Given the description of an element on the screen output the (x, y) to click on. 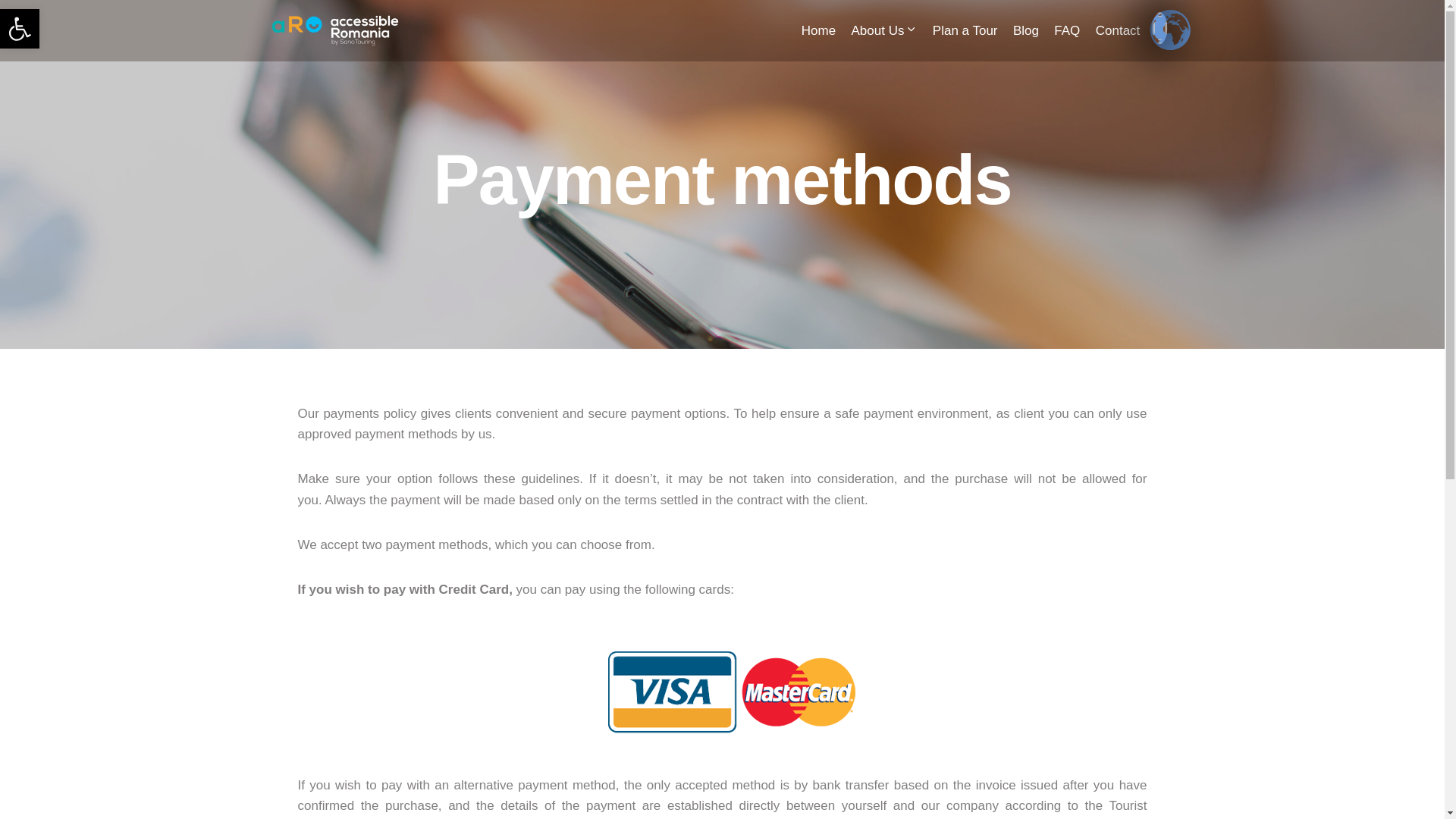
FAQ (19, 28)
Contact (1066, 31)
About Us (1117, 31)
Accessibility Tools (883, 31)
Accessibility Tools (19, 28)
English (19, 28)
Home (1160, 20)
Blog (818, 31)
Plan a Tour (1026, 31)
